Given the description of an element on the screen output the (x, y) to click on. 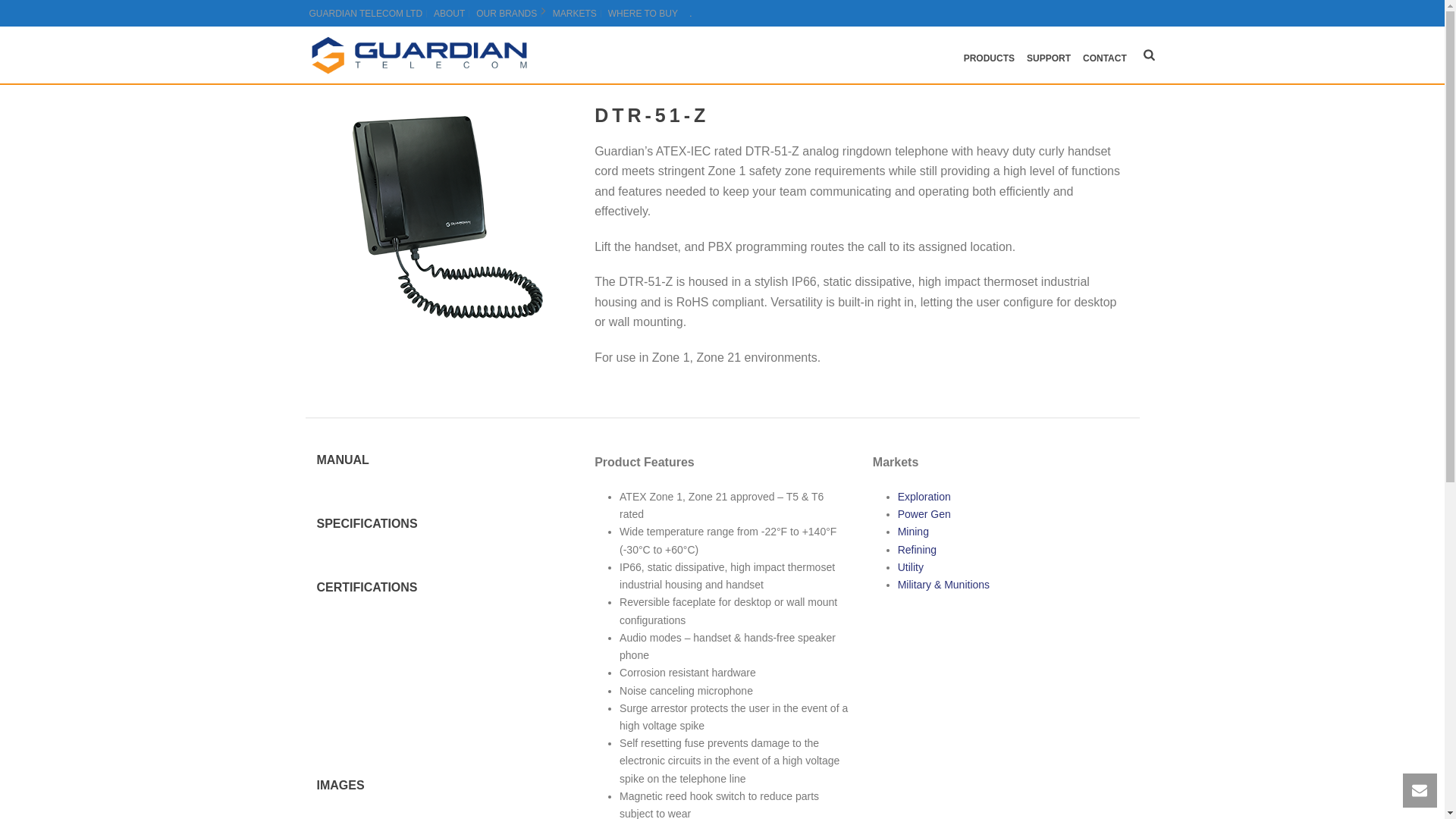
CONTACT (1104, 54)
SUPPORT (1048, 54)
GUARDIAN TELECOM LTD (365, 13)
WHERE TO BUY (642, 13)
MARKETS (574, 13)
CONTACT (1104, 54)
Tough, Trusted, True (418, 54)
PRODUCTS (989, 54)
PRODUCTS (989, 54)
OUR BRANDS (506, 13)
